Given the description of an element on the screen output the (x, y) to click on. 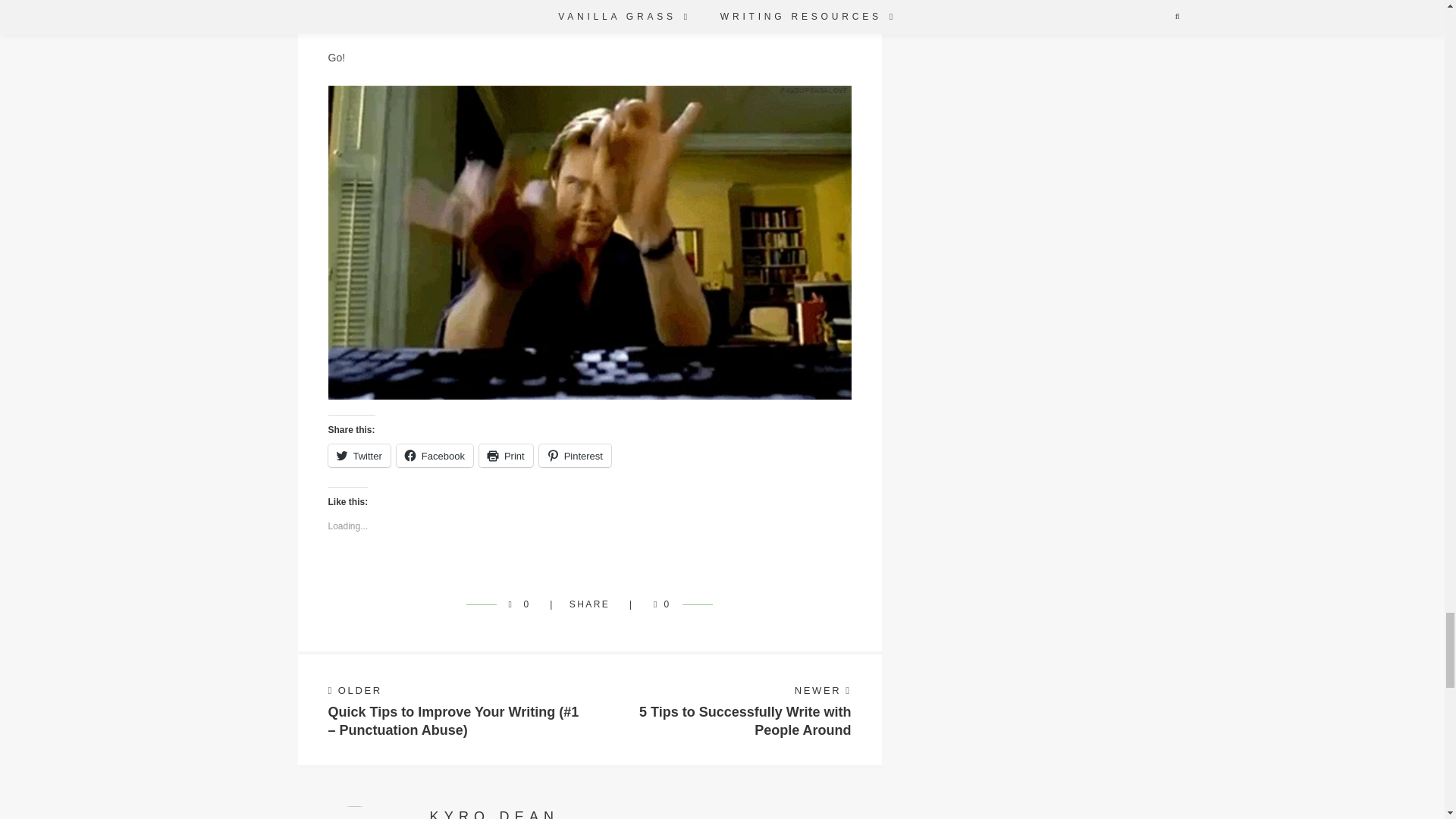
KYRO DEAN (494, 814)
Click to share on Facebook (434, 455)
Click to share on Twitter (358, 455)
Pinterest (574, 455)
Print (505, 455)
Click to print (505, 455)
Twitter (358, 455)
Facebook (434, 455)
Click to share on Pinterest (574, 455)
0 (658, 603)
